Given the description of an element on the screen output the (x, y) to click on. 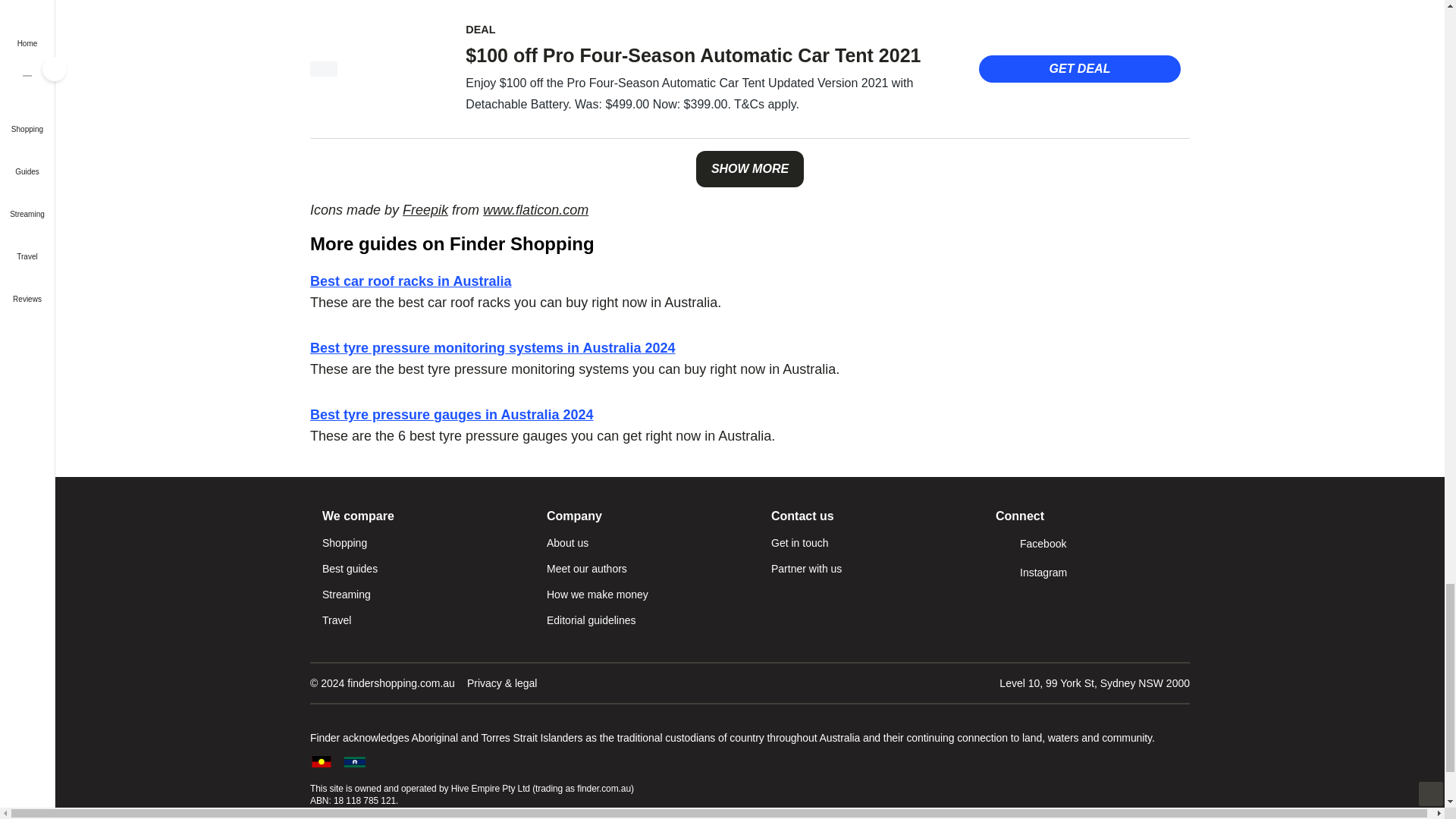
Lanmodo (323, 68)
